Given the description of an element on the screen output the (x, y) to click on. 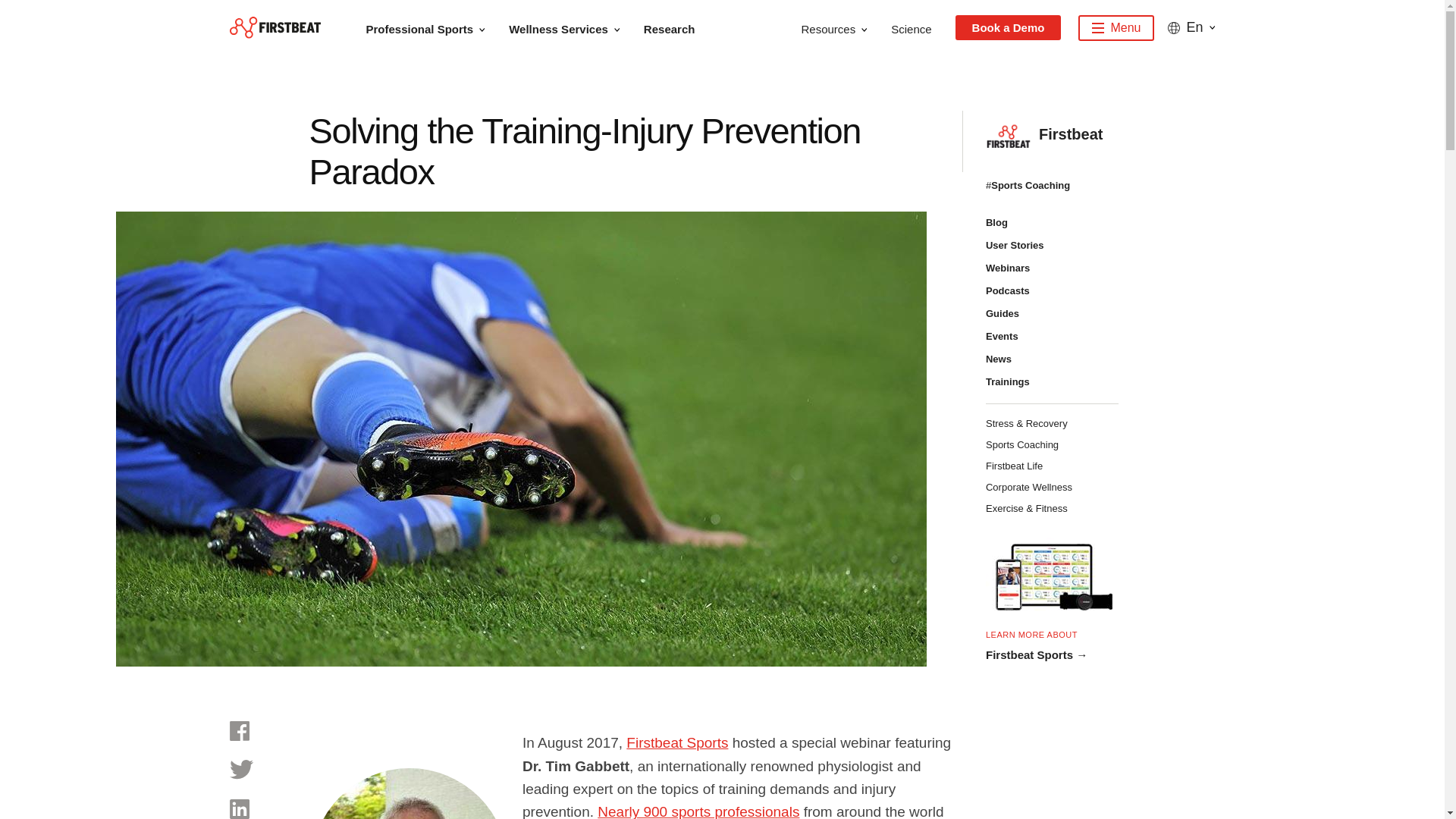
Research (677, 27)
Firstbeat (274, 27)
En (1190, 27)
Wellness Services (572, 27)
Science (919, 27)
Resources (841, 27)
Professional Sports (432, 27)
Book a Demo (1008, 27)
Menu (1116, 27)
